Given the description of an element on the screen output the (x, y) to click on. 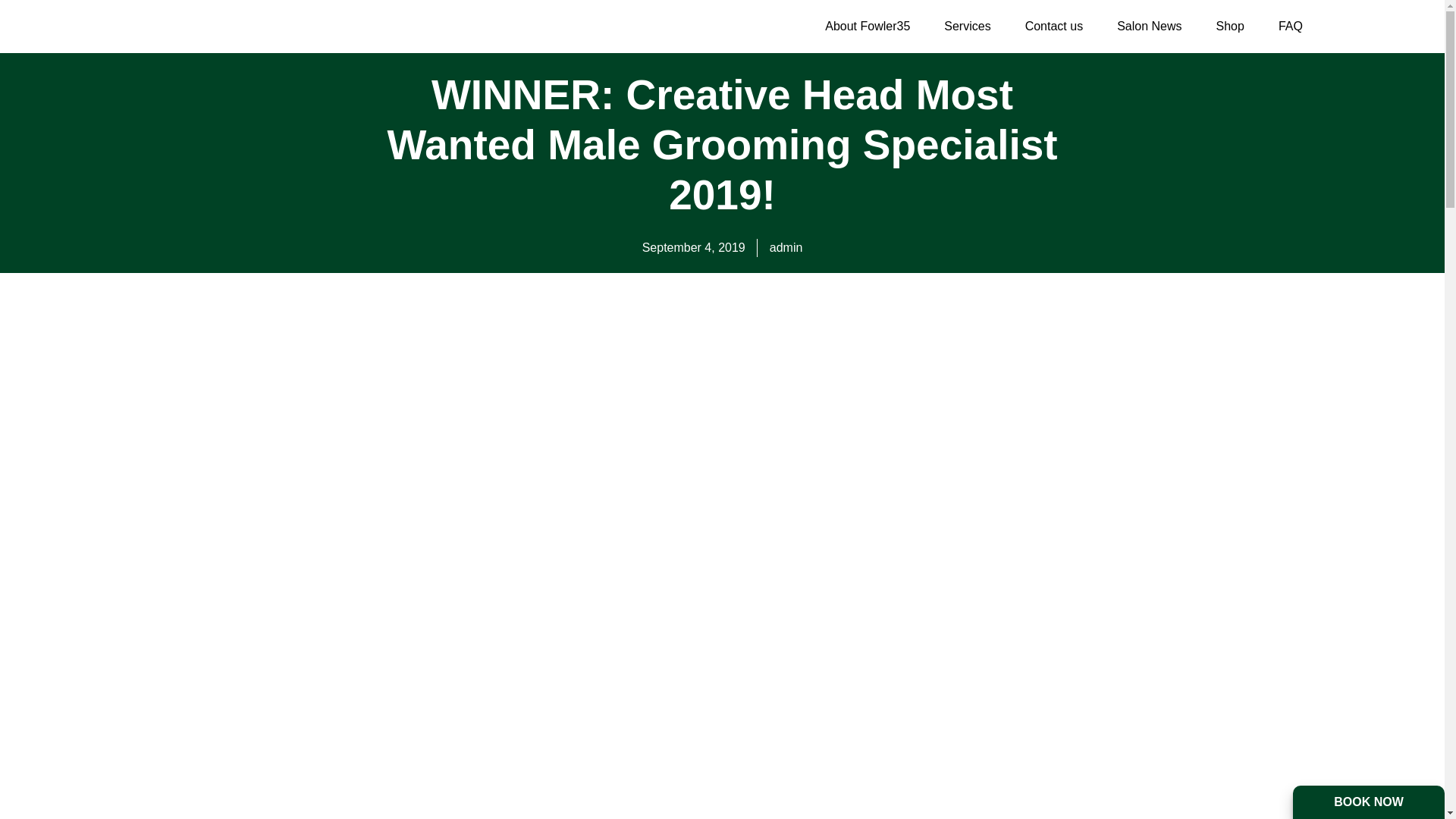
Contact us (1053, 26)
Salon News (1149, 26)
About Fowler35 (866, 26)
Shop (1230, 26)
FAQ (1290, 26)
Services (967, 26)
